Given the description of an element on the screen output the (x, y) to click on. 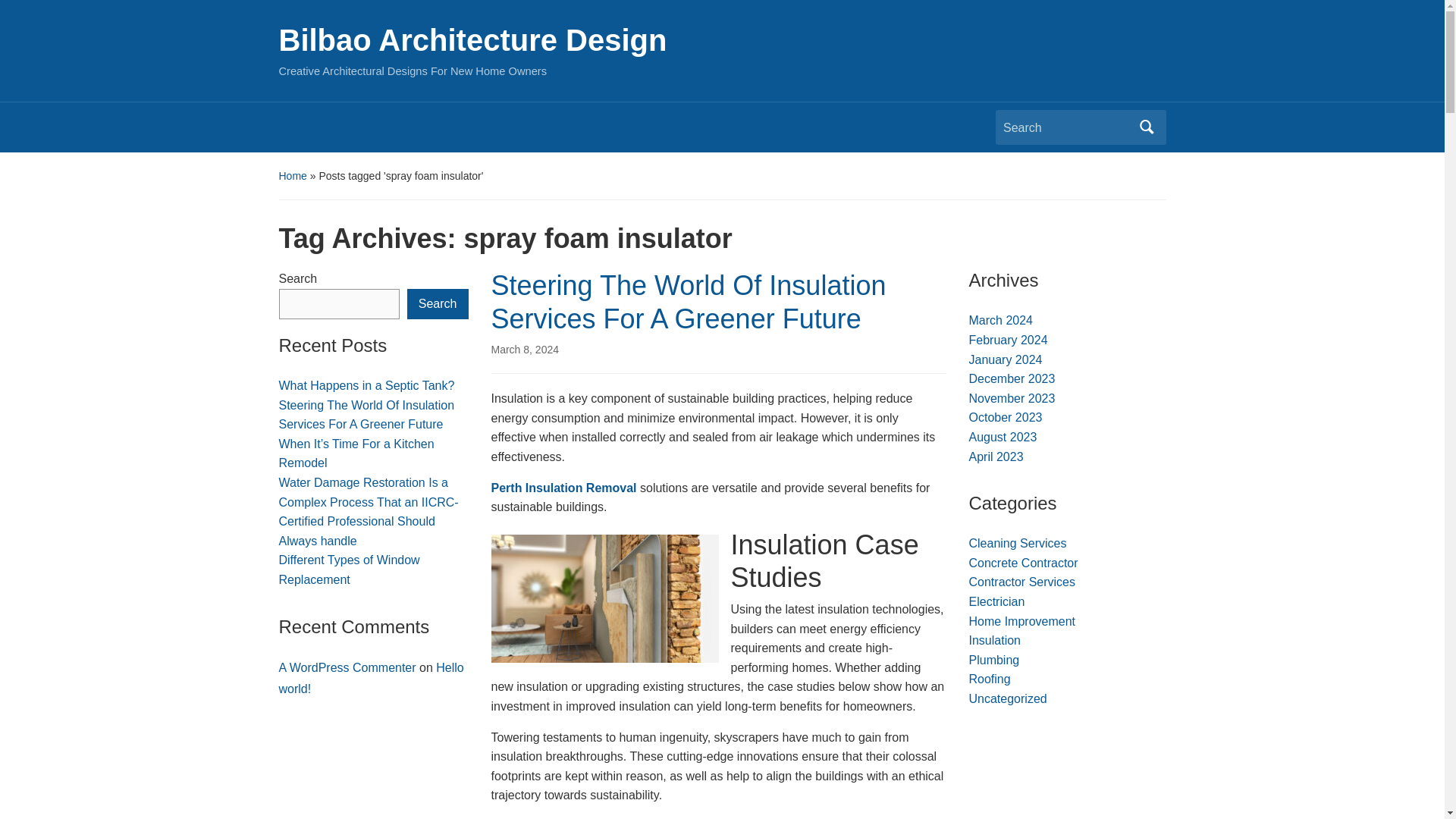
Plumbing (994, 659)
Cleaning Services (1018, 543)
January 2024 (1005, 359)
Concrete Contractor (1023, 562)
Electrician (997, 601)
Search (437, 304)
Home Improvement (1022, 620)
